Given the description of an element on the screen output the (x, y) to click on. 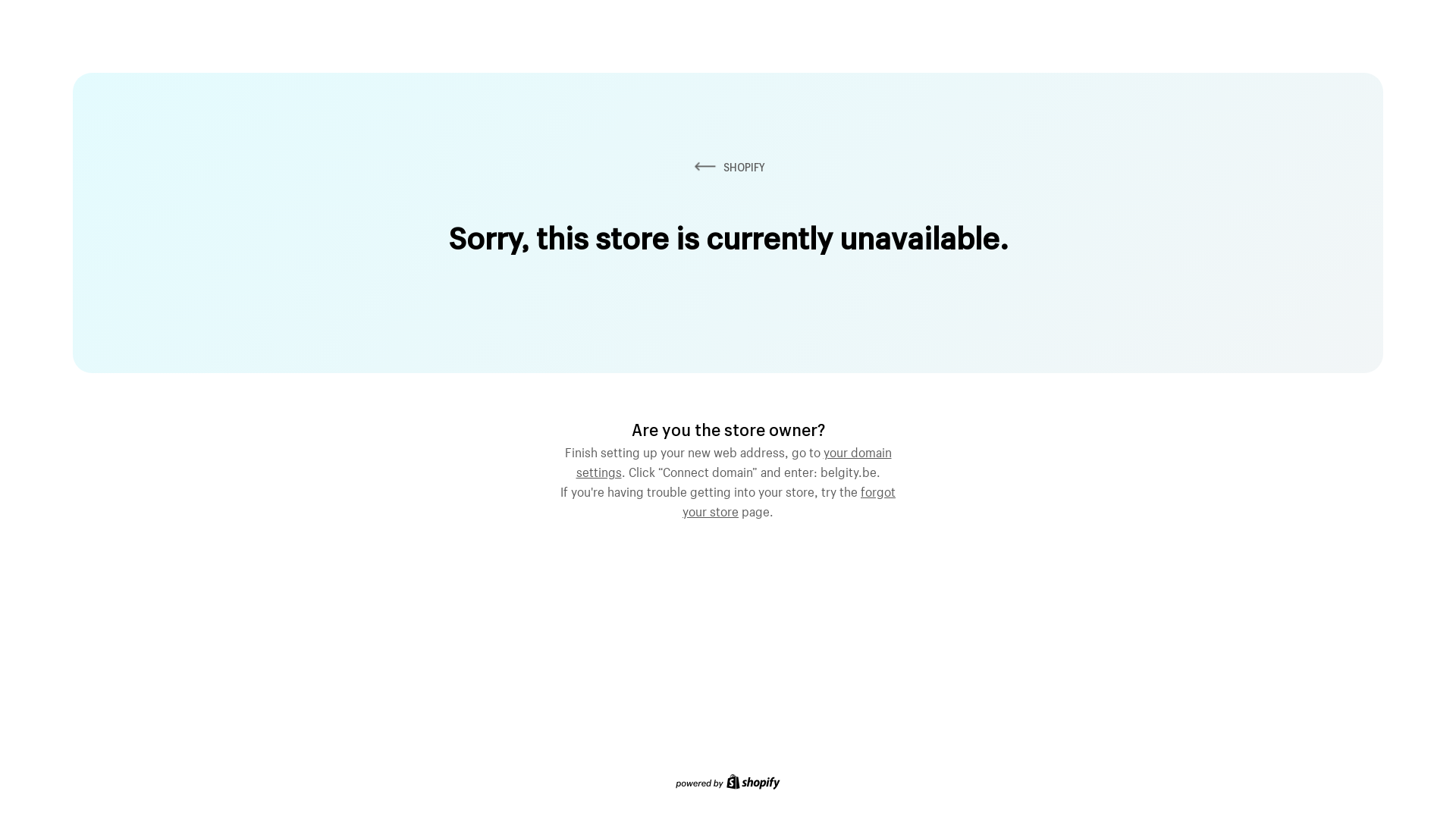
your domain settings Element type: text (733, 460)
SHOPIFY Element type: text (727, 167)
forgot your store Element type: text (788, 499)
